Given the description of an element on the screen output the (x, y) to click on. 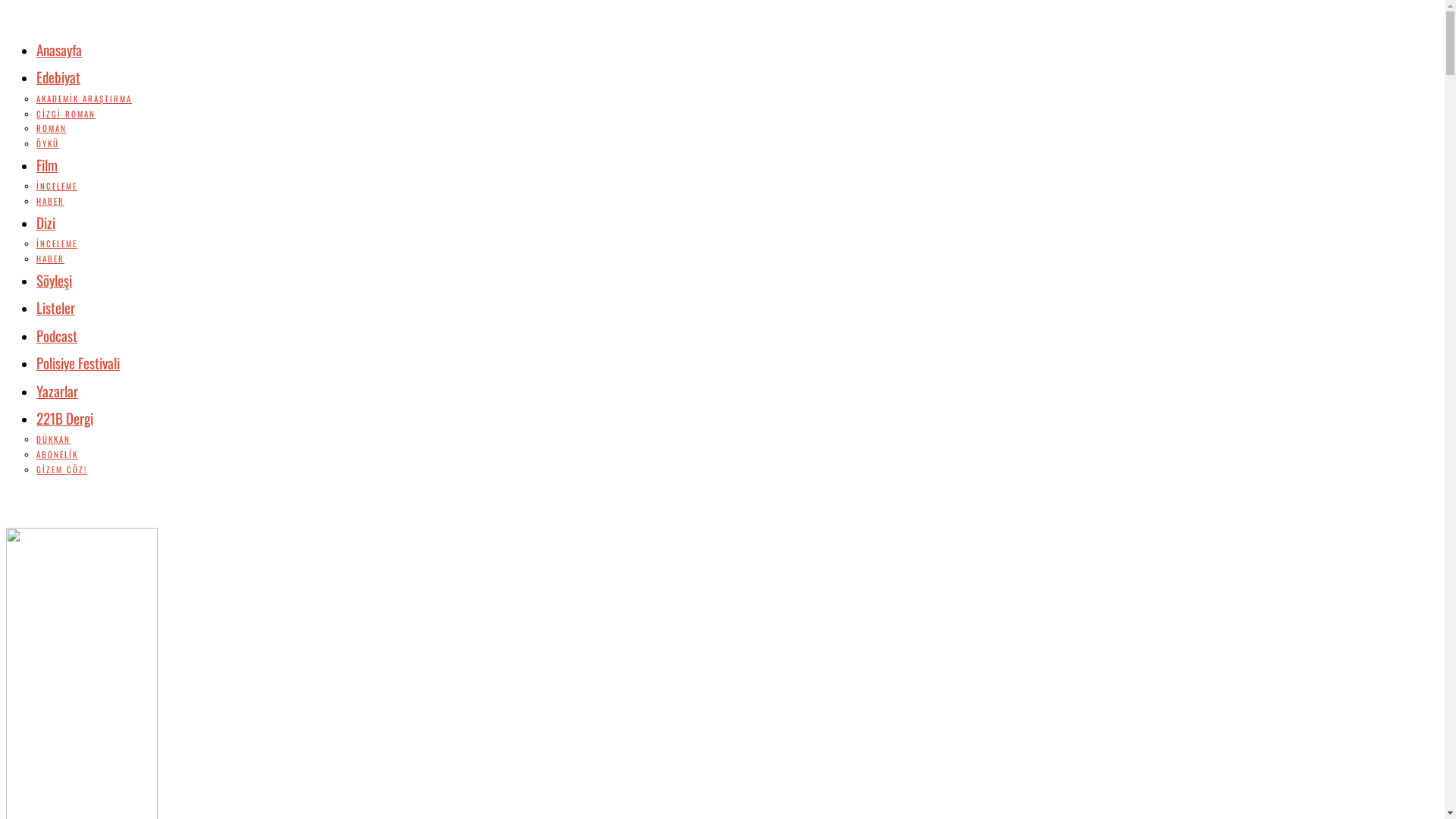
Dizi Element type: text (45, 221)
Yazarlar Element type: text (57, 389)
Anasayfa Element type: text (58, 48)
221B Dergi Element type: text (64, 417)
ABONELIK Element type: text (57, 454)
ROMAN Element type: text (51, 128)
Polisiye Festivali Element type: text (77, 362)
HABER Element type: text (50, 200)
Listeler Element type: text (55, 306)
Film Element type: text (46, 164)
HABER Element type: text (50, 258)
Podcast Element type: text (56, 334)
Edebiyat Element type: text (58, 76)
